Given the description of an element on the screen output the (x, y) to click on. 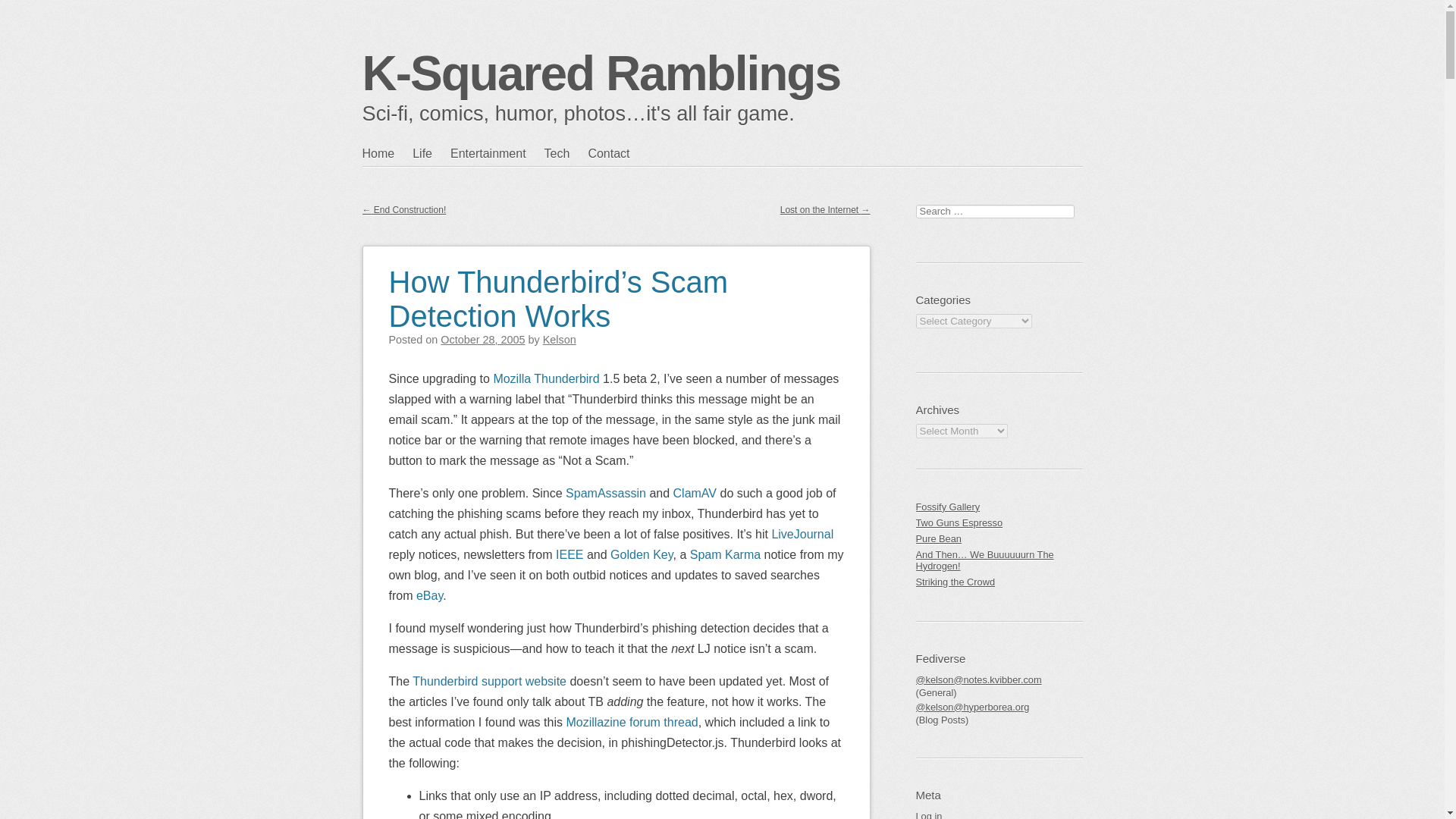
IEEE (569, 554)
Kelson (559, 339)
eBay (429, 594)
Spam Karma (725, 554)
Main menu (435, 183)
Entertainment (496, 153)
Tech (566, 153)
Home (387, 153)
ClamAV (694, 492)
SpamAssassin (606, 492)
Mozillazine forum thread (631, 721)
LiveJournal (801, 533)
Mozilla Thunderbird (545, 378)
Life (430, 153)
